Given the description of an element on the screen output the (x, y) to click on. 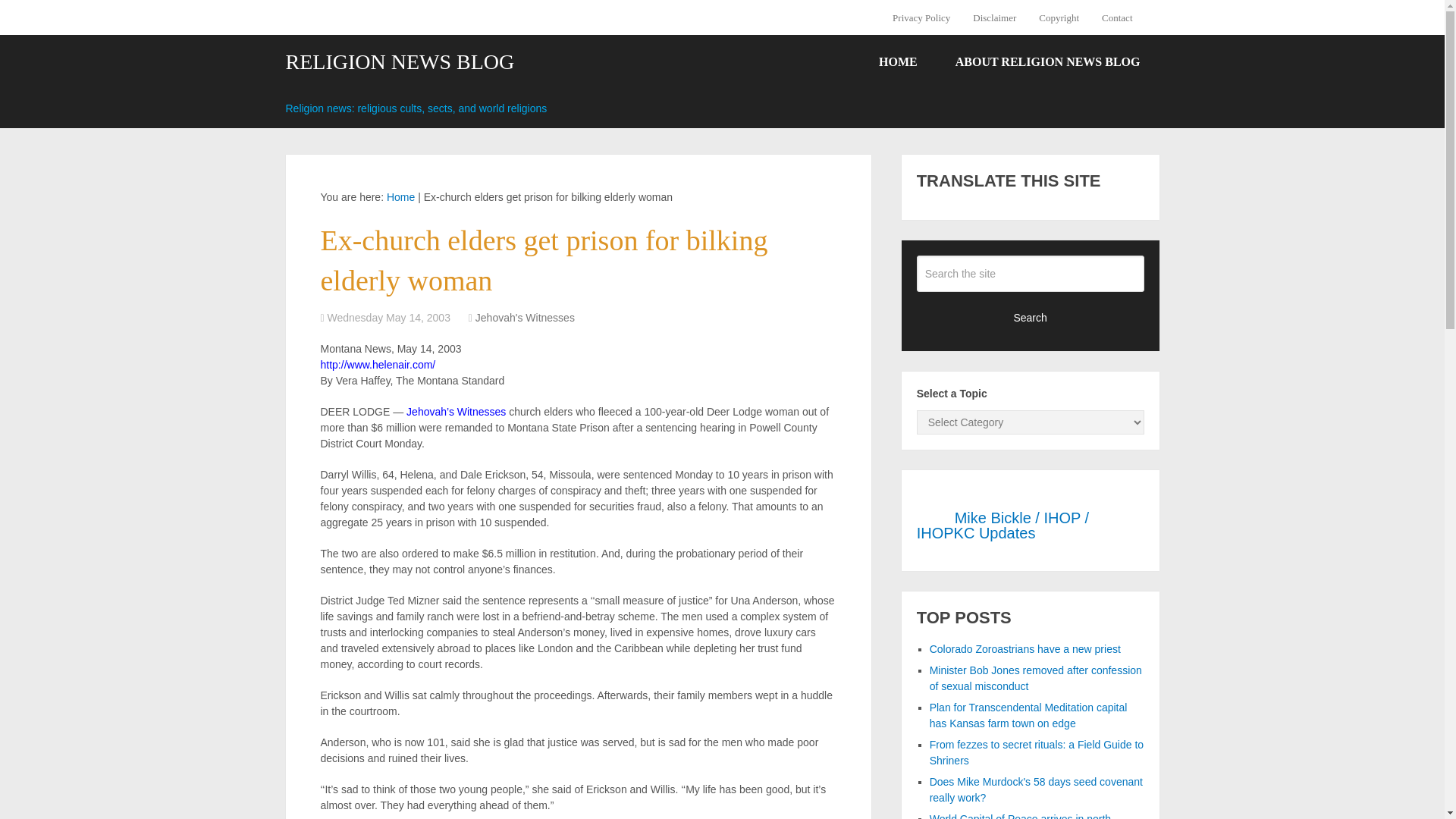
ABOUT RELIGION NEWS BLOG (1047, 62)
View all posts in Jehovah's Witnesses (525, 317)
Does Mike Murdock's 58 days seed covenant really work? (1036, 789)
HOME (898, 62)
World Capital of Peace arrives in north Kansas (1020, 816)
Contact (1116, 17)
Colorado Zoroastrians have a new priest (1025, 648)
From fezzes to secret rituals: a Field Guide to Shriners (1036, 752)
Copyright (1058, 17)
Privacy Policy (926, 17)
Home (400, 196)
Search (1030, 317)
Disclaimer (993, 17)
RELIGION NEWS BLOG (399, 61)
